Given the description of an element on the screen output the (x, y) to click on. 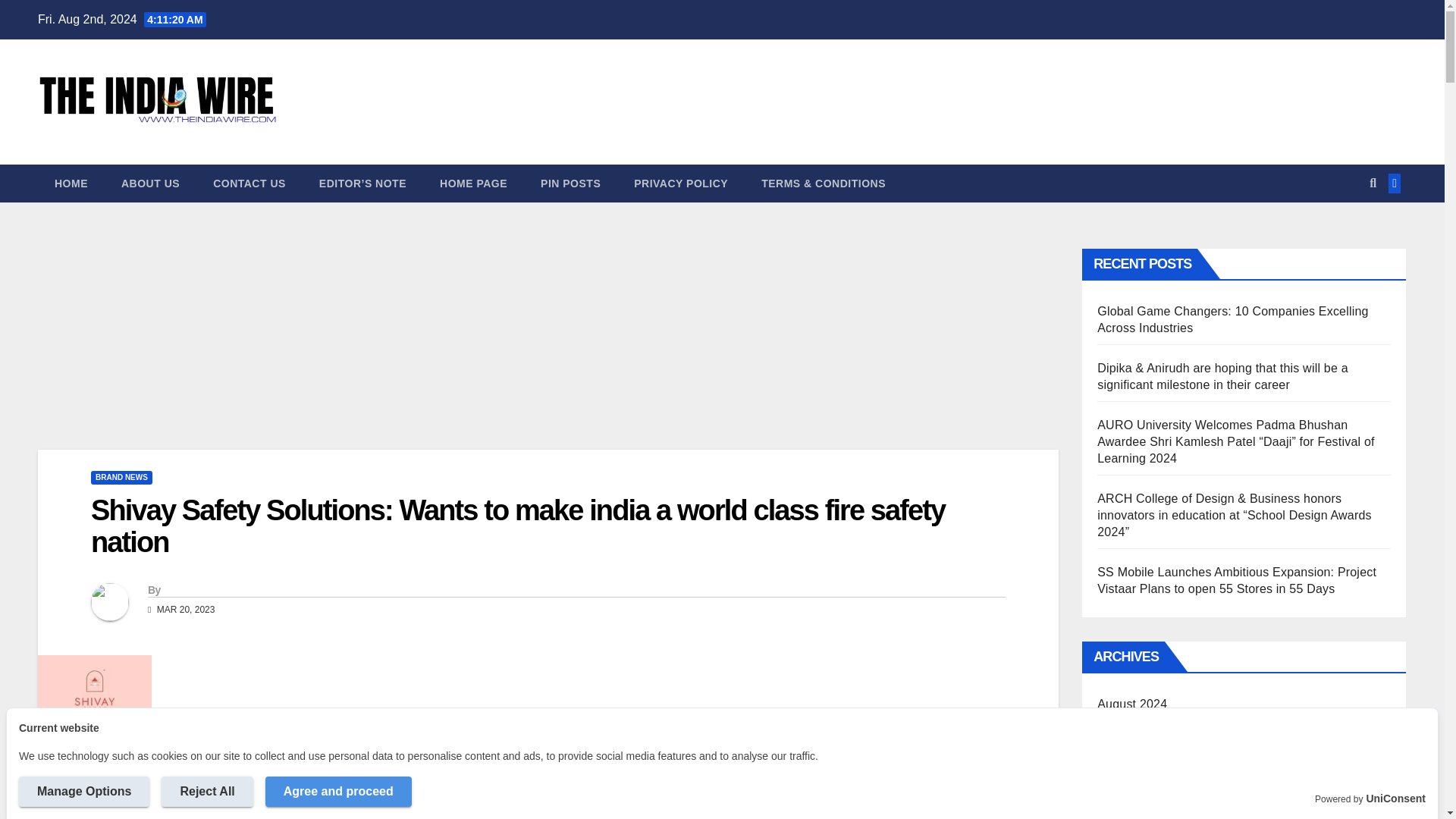
BRAND NEWS (121, 477)
Home (70, 183)
UniConsent Consent Manager (1395, 798)
Reject All (206, 791)
UniConsent (1395, 798)
HOME (70, 183)
Manage Consent (18, 799)
ABOUT US (150, 183)
PIN POSTS (570, 183)
CONTACT US (249, 183)
PRIVACY POLICY (680, 183)
Manage Options (83, 791)
HOME PAGE (473, 183)
